Given the description of an element on the screen output the (x, y) to click on. 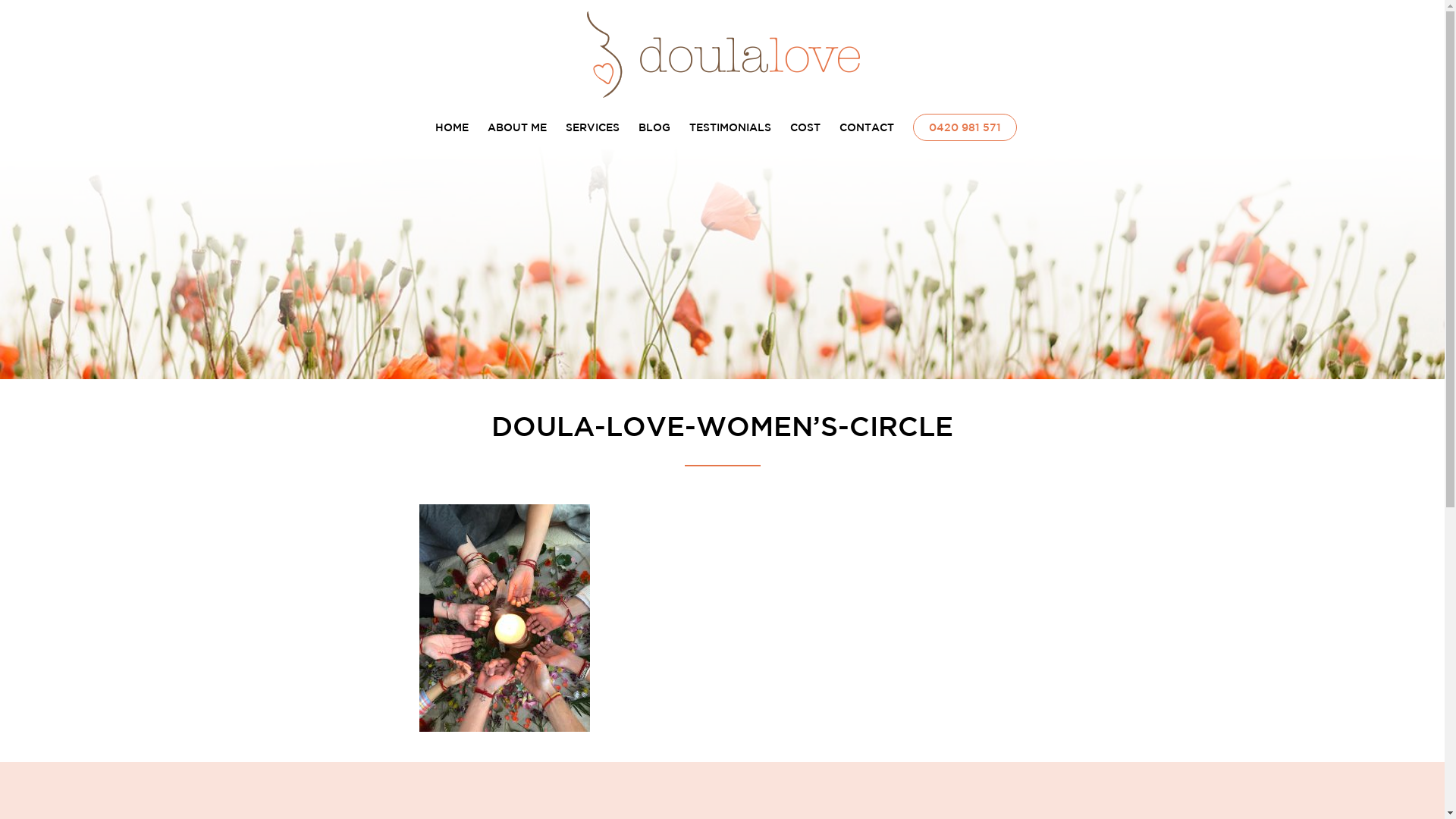
CONTACT Element type: text (866, 127)
SERVICES Element type: text (592, 127)
TESTIMONIALS Element type: text (729, 127)
ABOUT ME Element type: text (517, 127)
COST Element type: text (805, 127)
0420 981 571 Element type: text (964, 127)
BLOG Element type: text (653, 127)
HOME Element type: text (451, 127)
